Given the description of an element on the screen output the (x, y) to click on. 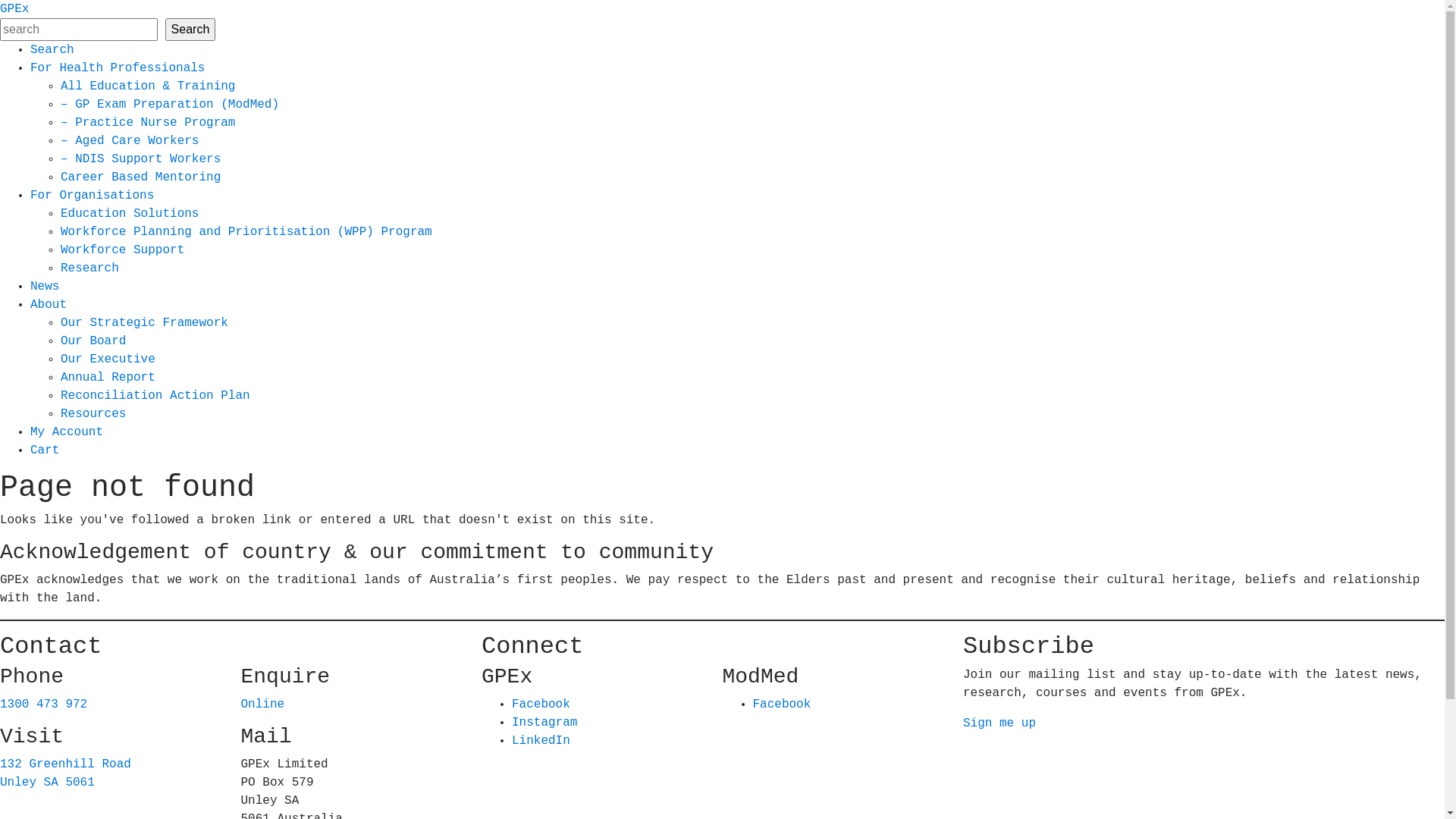
My Account Element type: text (66, 432)
Search Element type: text (190, 29)
Workforce Planning and Prioritisation (WPP) Program Element type: text (246, 231)
Career Based Mentoring Element type: text (140, 177)
Our Executive Element type: text (107, 359)
Resources Element type: text (92, 413)
Facebook Element type: text (781, 704)
GPEx Element type: text (14, 8)
Education Solutions Element type: text (129, 213)
LinkedIn Element type: text (540, 740)
Reconciliation Action Plan Element type: text (155, 395)
For Organisations Element type: text (91, 195)
Sign me up Element type: text (999, 723)
132 Greenhill Road
Unley SA 5061 Element type: text (65, 773)
About Element type: text (48, 304)
Facebook Element type: text (540, 704)
Workforce Support Element type: text (122, 250)
Online Element type: text (263, 704)
Annual Report Element type: text (107, 377)
Our Board Element type: text (92, 341)
Research Element type: text (89, 268)
Instagram Element type: text (544, 722)
All Education & Training Element type: text (147, 86)
News Element type: text (44, 286)
1300 473 972 Element type: text (43, 704)
Cart Element type: text (44, 450)
For Health Professionals Element type: text (117, 68)
Our Strategic Framework Element type: text (144, 322)
Search Element type: text (52, 49)
